Given the description of an element on the screen output the (x, y) to click on. 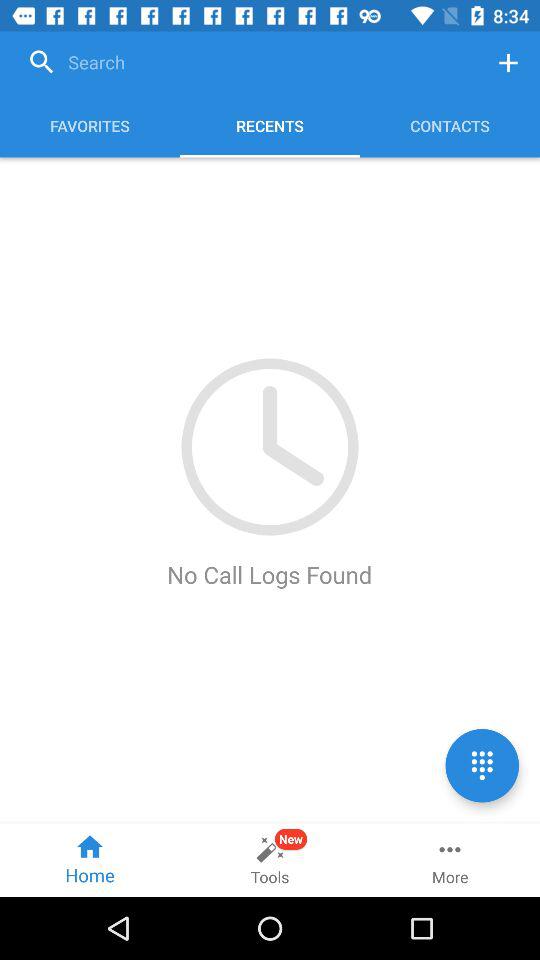
number keybad (482, 765)
